Given the description of an element on the screen output the (x, y) to click on. 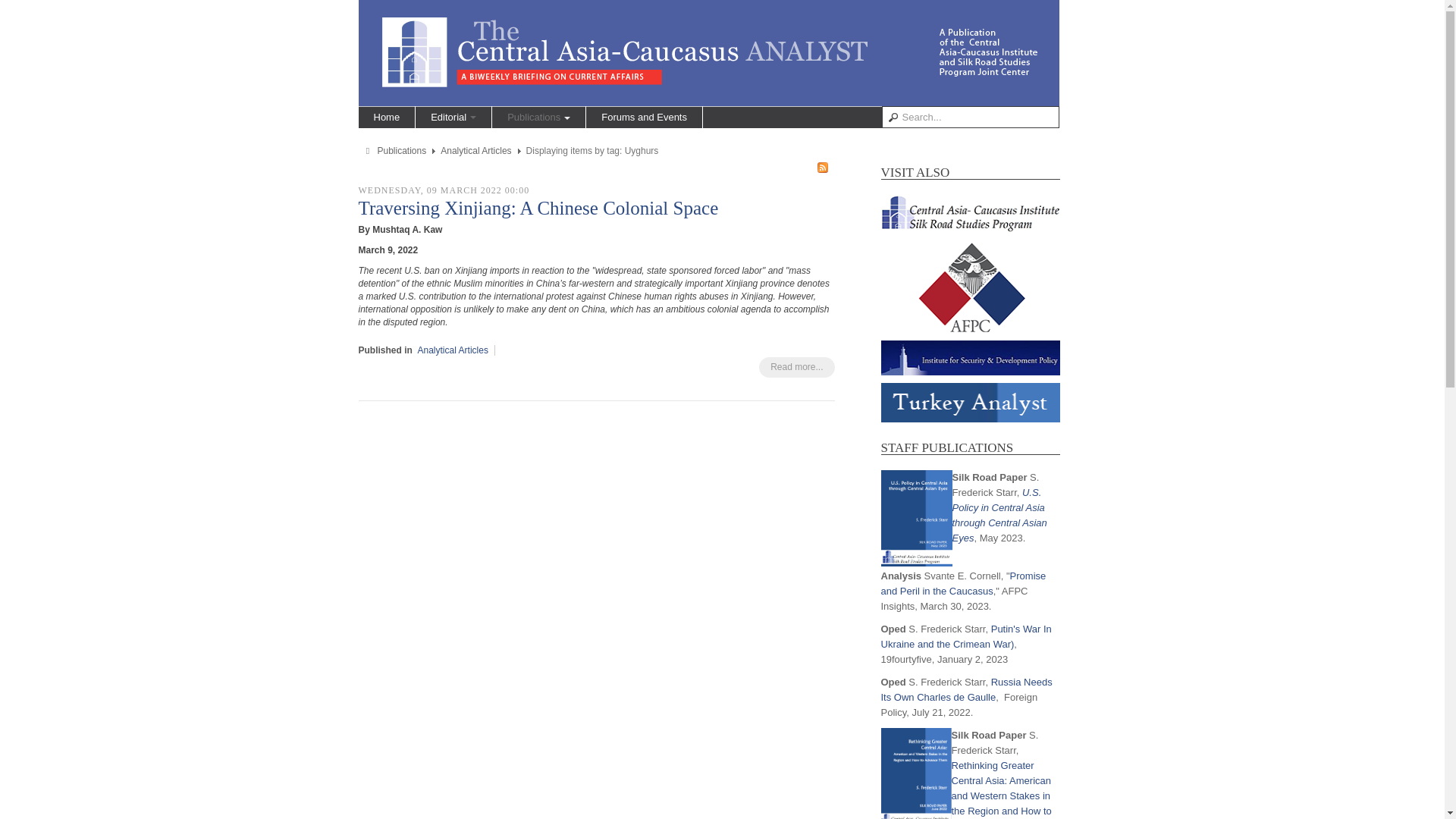
Russia Needs Its Own Charles de Gaulle (966, 689)
U.S. Policy in Central Asia through Central Asian Eyes (999, 514)
Editorial (453, 117)
Analytical Articles (476, 150)
Subscribe to this RSS feed (821, 167)
Home (386, 117)
Publications (538, 117)
Analytical Articles (452, 349)
Publications (401, 150)
Promise and Peril in the Caucasus (963, 583)
Traversing Xinjiang: A Chinese Colonial Space (537, 208)
Read more... (796, 367)
Forums and Events (643, 117)
